Given the description of an element on the screen output the (x, y) to click on. 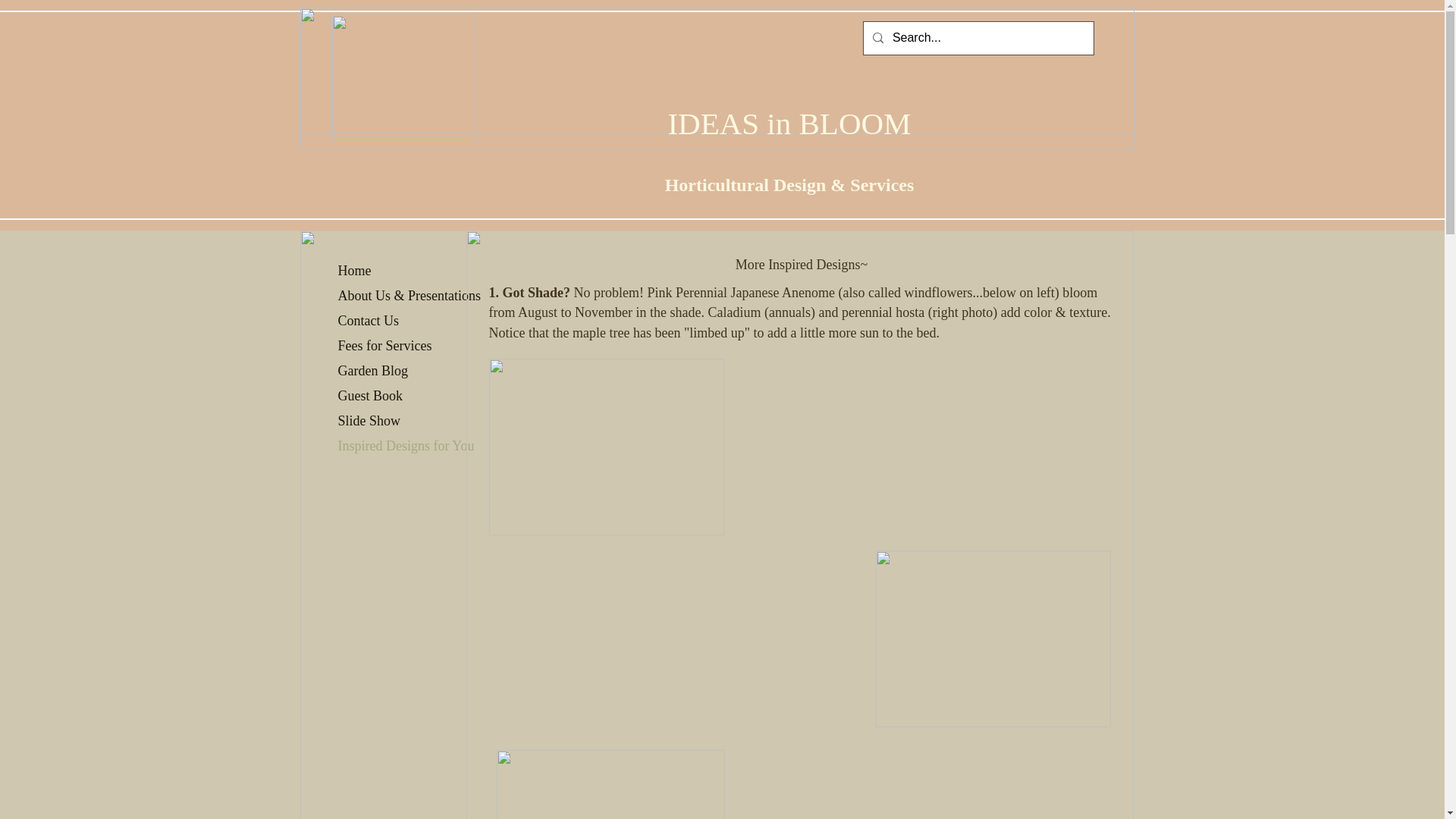
Garden Blog (372, 370)
Guest Book (370, 395)
Home (354, 270)
Fees for Services (384, 345)
Slide Show (369, 420)
Inspired Designs for You (405, 445)
Contact Us (368, 320)
